Given the description of an element on the screen output the (x, y) to click on. 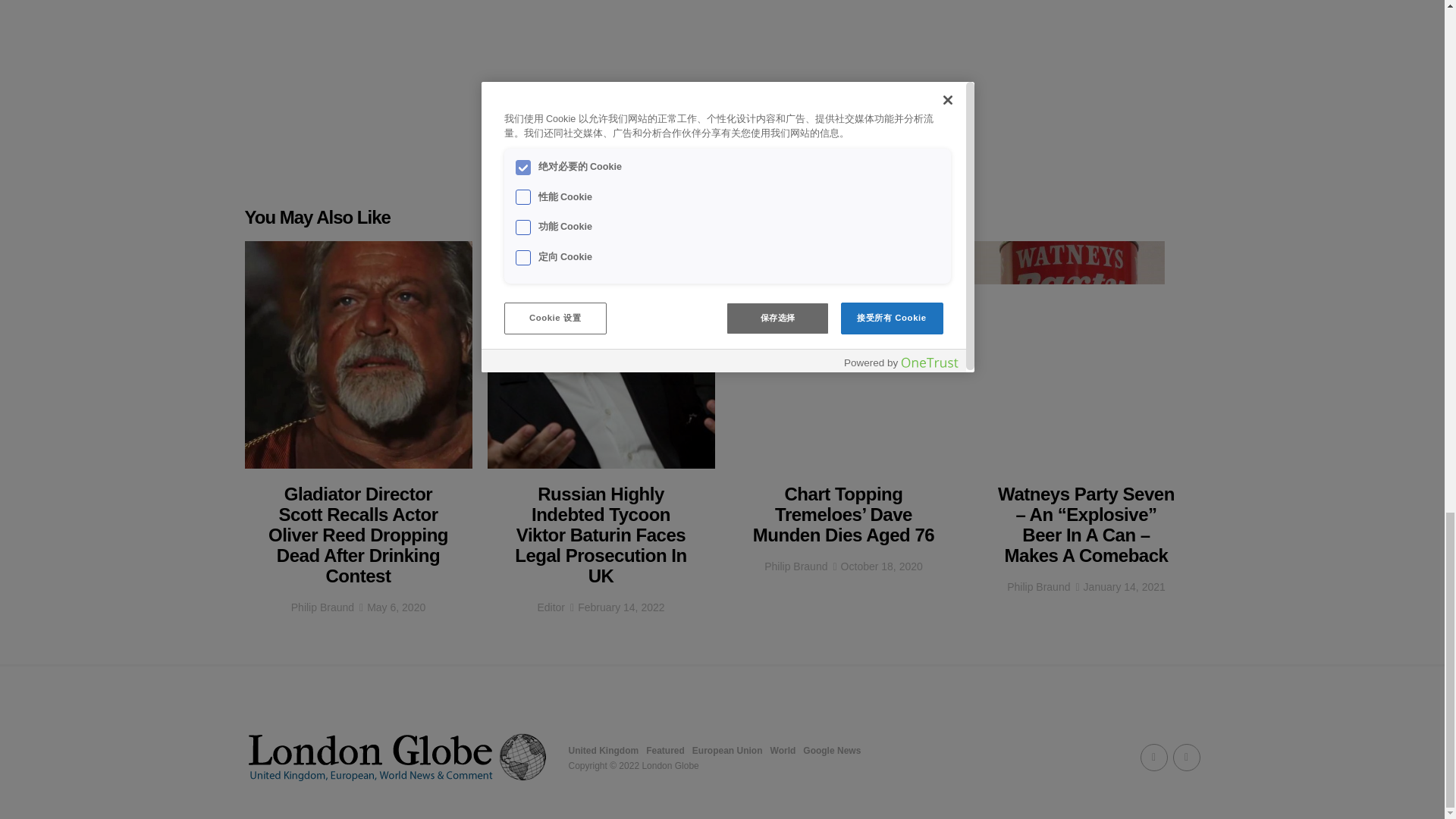
Posts by Philip Braund (322, 607)
Posts by Philip Braund (795, 566)
Posts by Philip Braund (1038, 586)
Posts by Editor (550, 607)
